Given the description of an element on the screen output the (x, y) to click on. 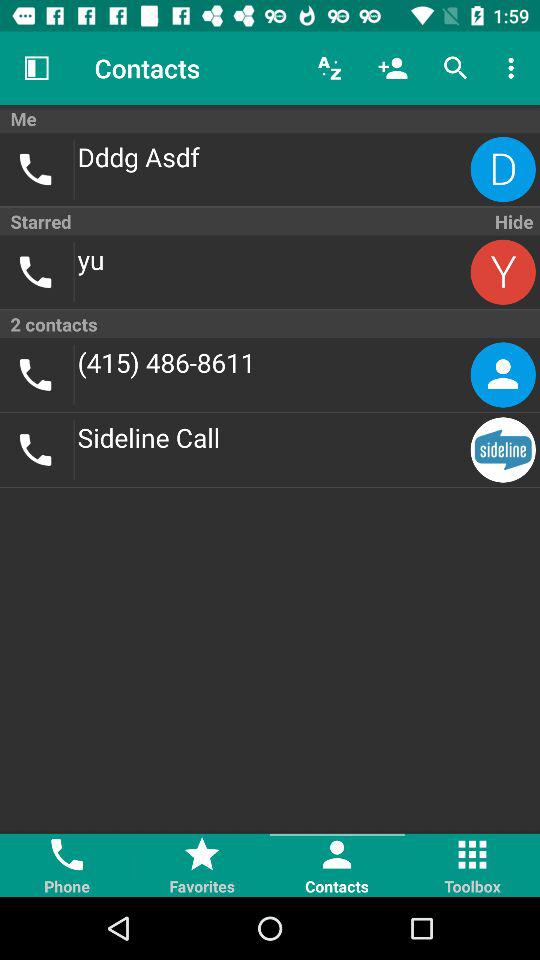
turn on the hide item (512, 221)
